Given the description of an element on the screen output the (x, y) to click on. 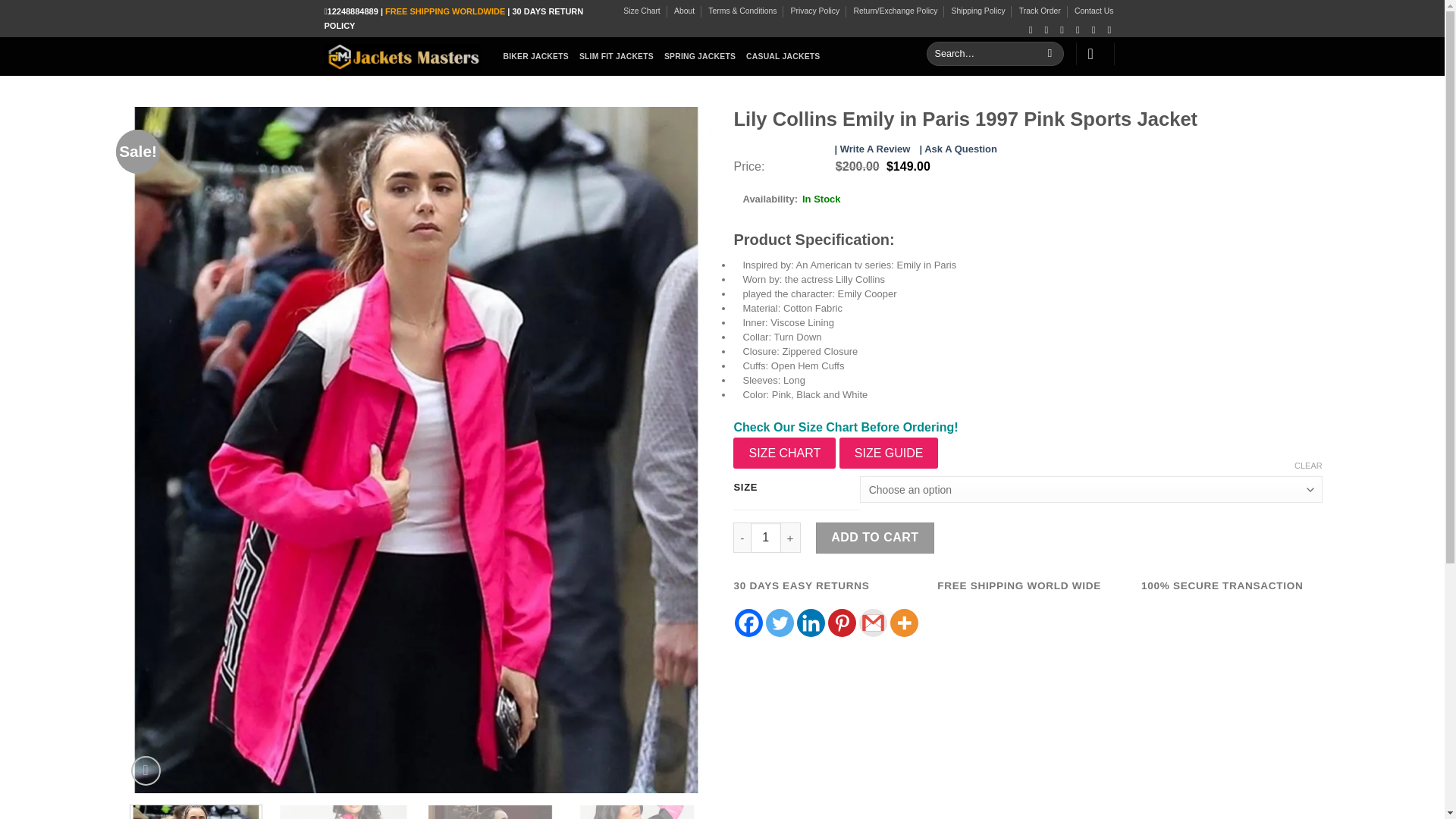
Search (1050, 53)
SLIM FIT JACKETS (616, 56)
Shipping Policy (979, 11)
BIKER JACKETS (536, 56)
1 (765, 537)
Track Order (1040, 11)
Jackets Masters (402, 56)
About (684, 11)
Contact Us (1093, 11)
Privacy Policy (815, 11)
